Given the description of an element on the screen output the (x, y) to click on. 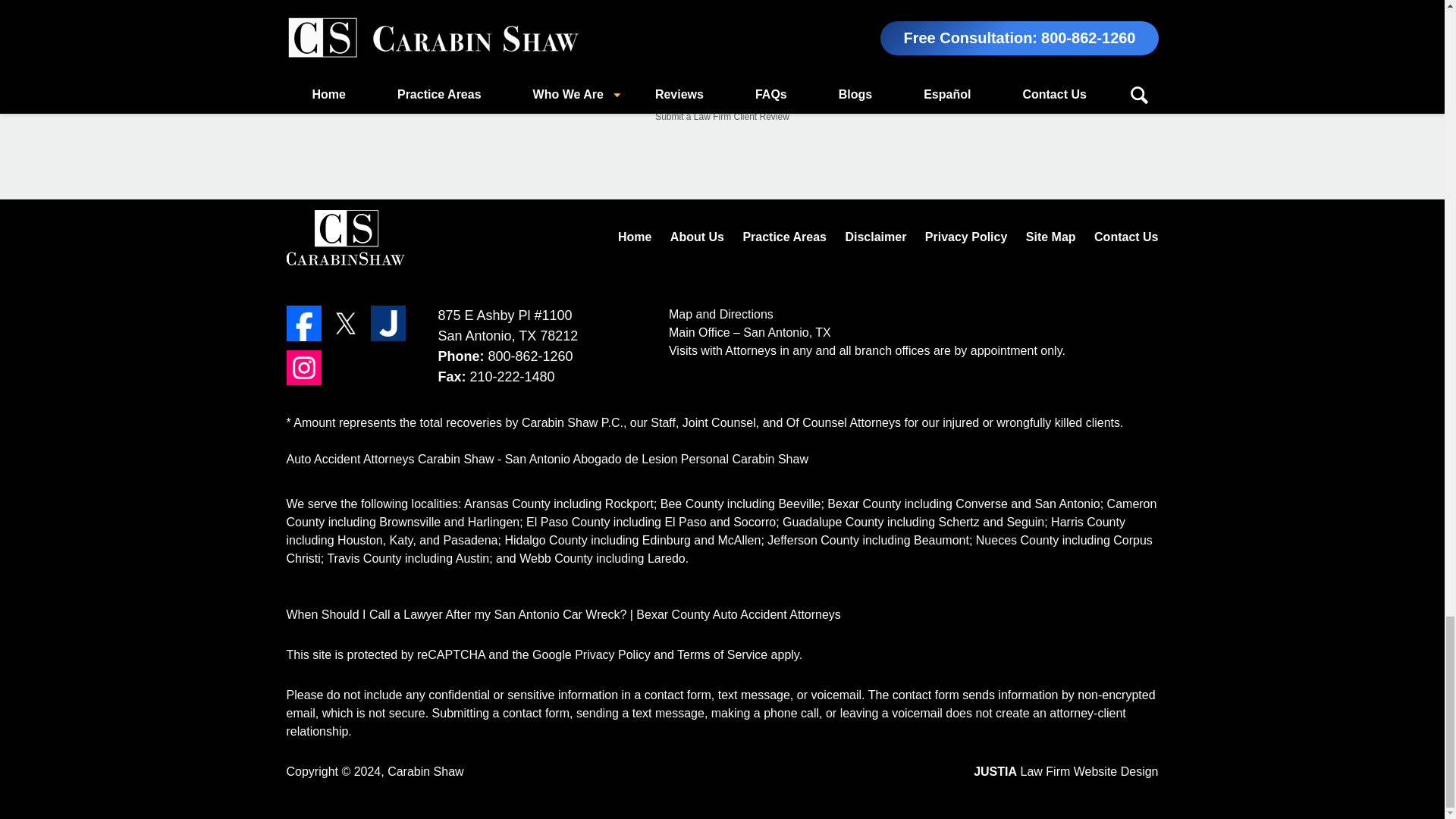
Facebook (303, 322)
Justia (388, 322)
Twitter (345, 322)
Instagram (303, 367)
